Given the description of an element on the screen output the (x, y) to click on. 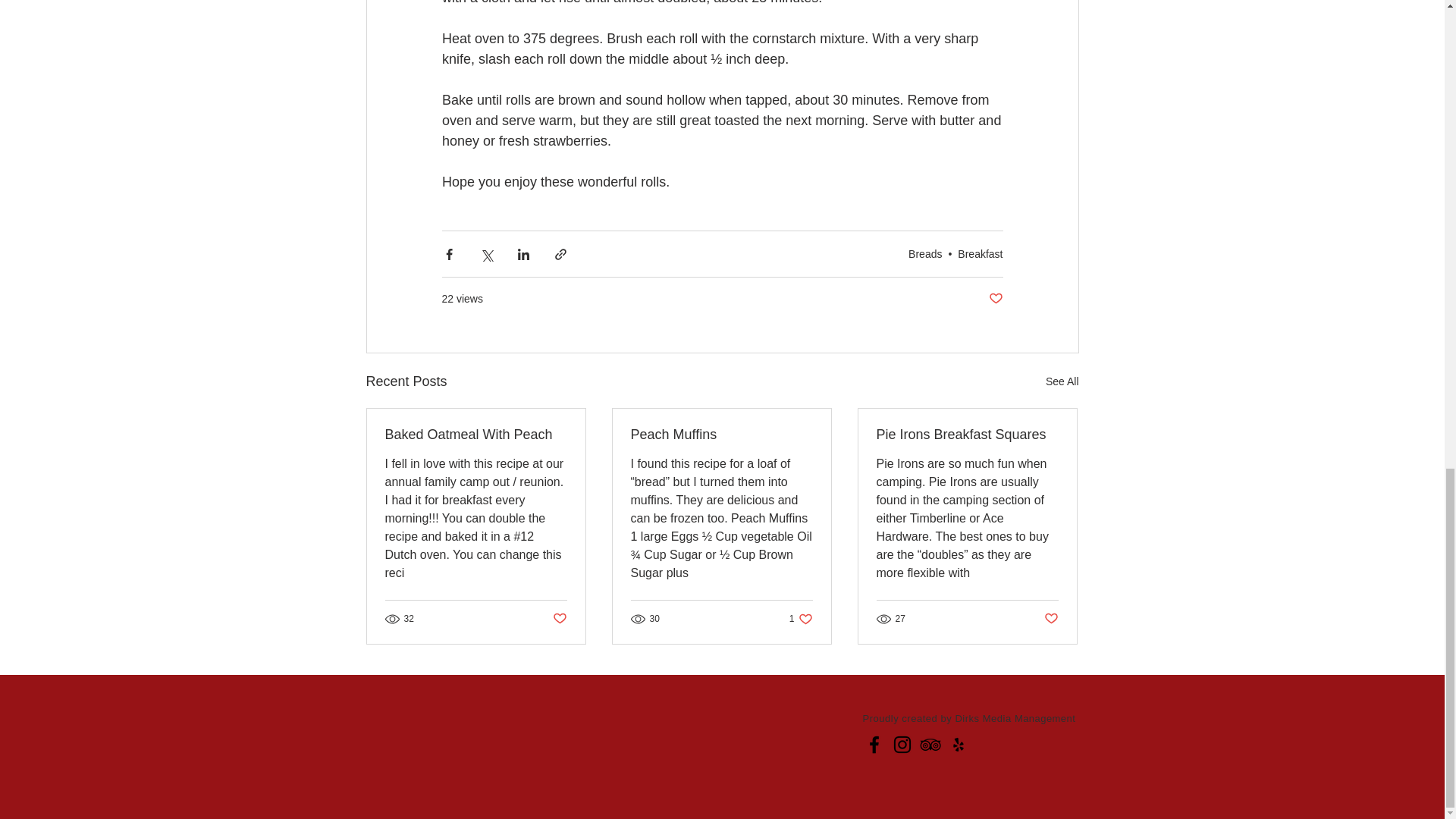
Pie Irons Breakfast Squares (800, 618)
See All (967, 434)
Baked Oatmeal With Peach (1061, 382)
Breakfast (476, 434)
Post not marked as liked (980, 254)
Breads (558, 618)
Post not marked as liked (925, 254)
Post not marked as liked (995, 299)
Peach Muffins (1050, 618)
